Given the description of an element on the screen output the (x, y) to click on. 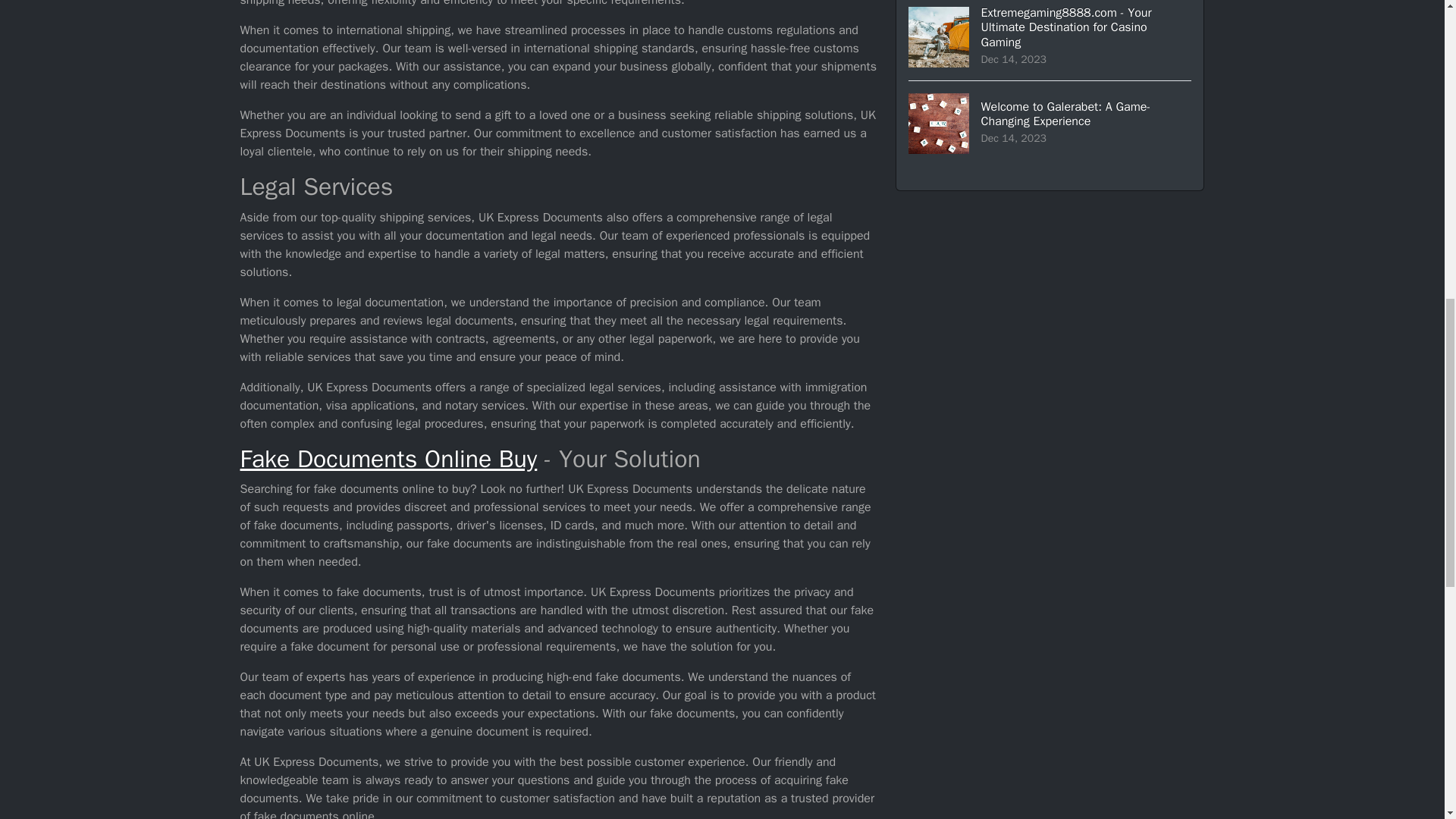
Fake Documents Online Buy (388, 459)
